Given the description of an element on the screen output the (x, y) to click on. 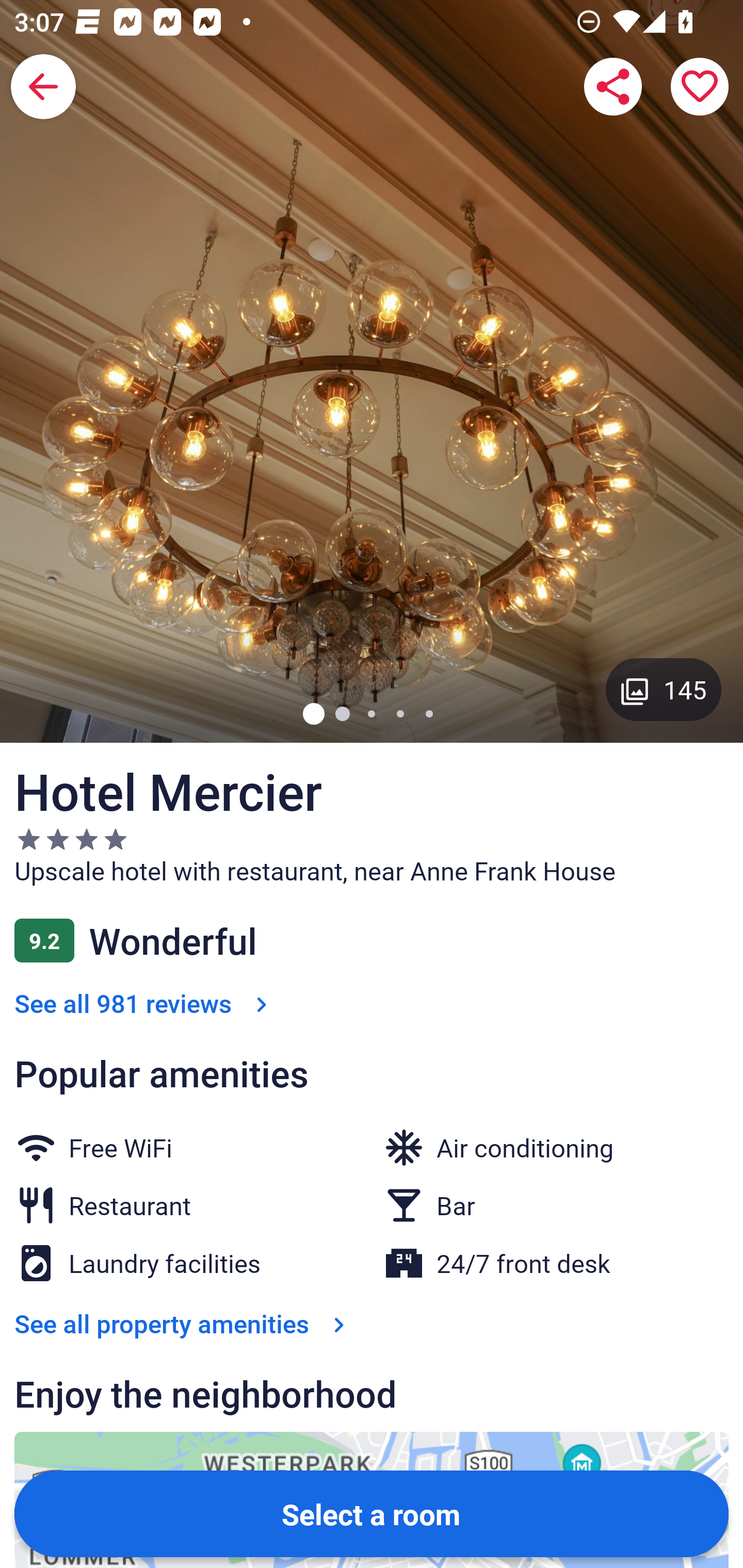
Back (43, 86)
Save property to a trip (699, 86)
Share Hotel Mercier (612, 87)
Gallery button with 145 images (663, 689)
See all 981 reviews See all 981 reviews Link (144, 1002)
See all property amenities (183, 1323)
Select a room Button Select a room (371, 1513)
